Given the description of an element on the screen output the (x, y) to click on. 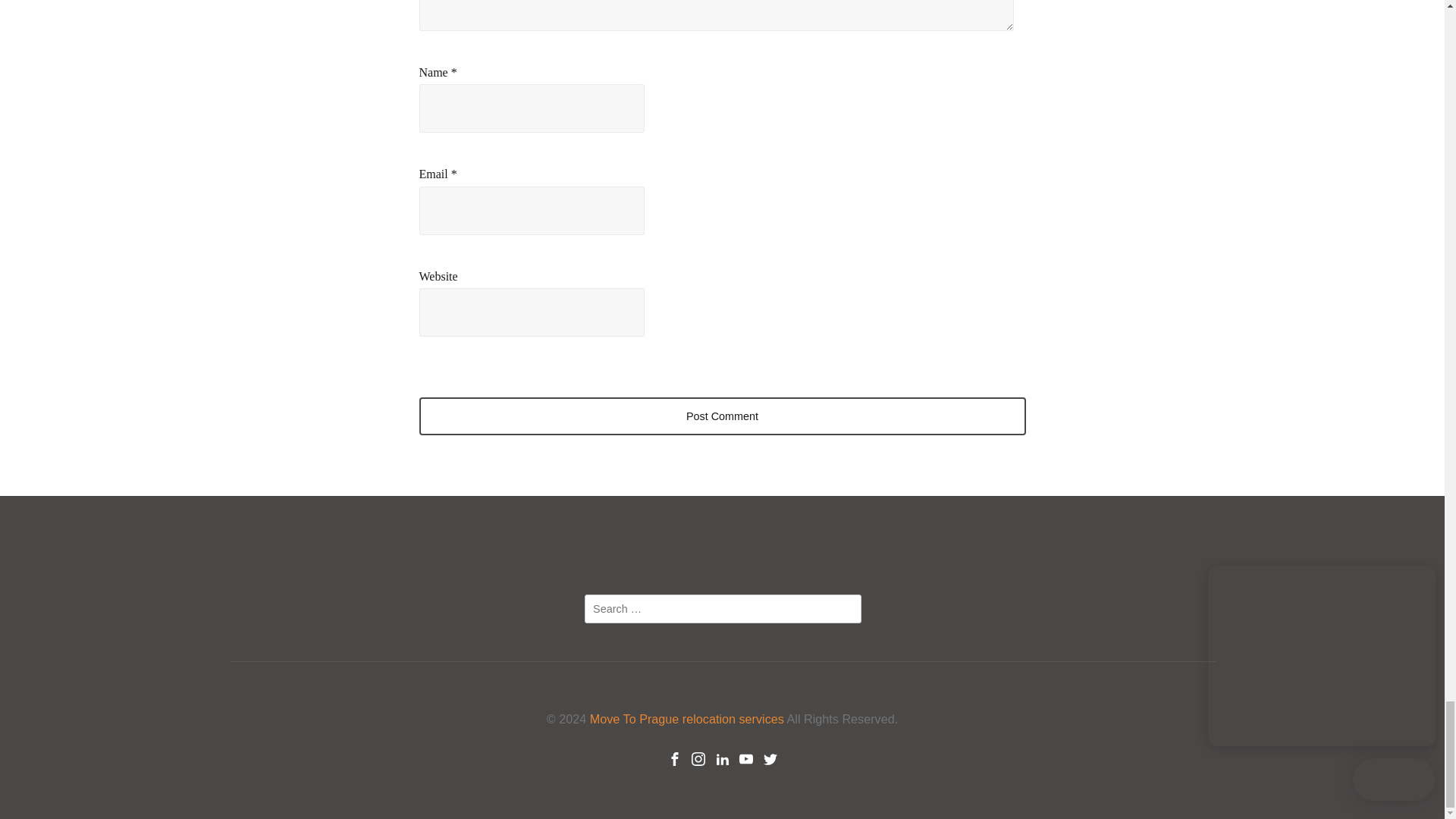
Move To Prague relocation services (686, 718)
Post Comment (722, 415)
Post Comment (722, 415)
